Given the description of an element on the screen output the (x, y) to click on. 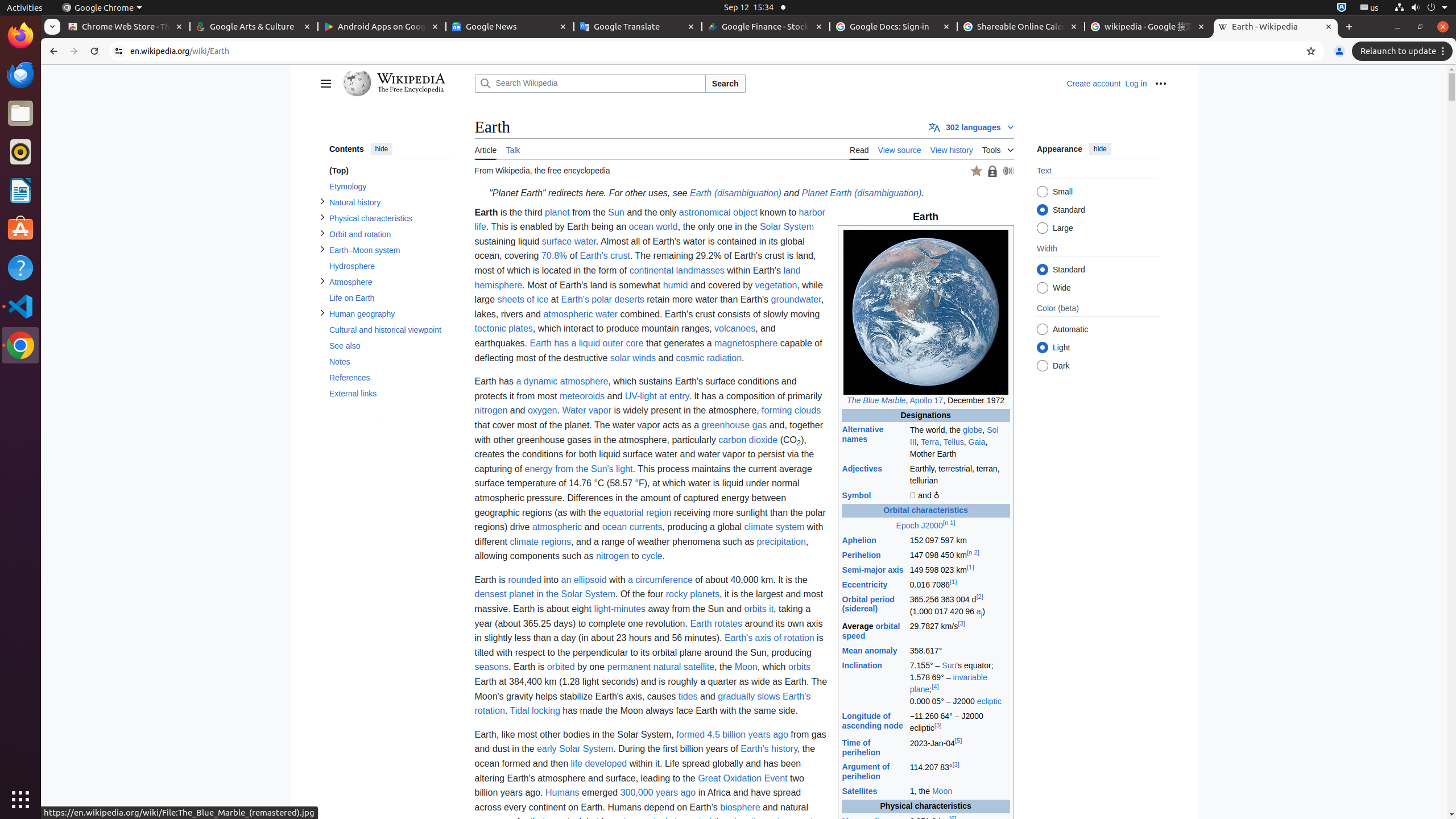
The world, the globe, Sol III, Terra, Tellus, Gaia, Mother Earth Element type: table-cell (959, 442)
tectonic plates Element type: link (503, 328)
land hemisphere Element type: link (637, 277)
The Blue Marble Element type: link (876, 399)
Wikipedia The Free Encyclopedia Element type: link (405, 83)
